Given the description of an element on the screen output the (x, y) to click on. 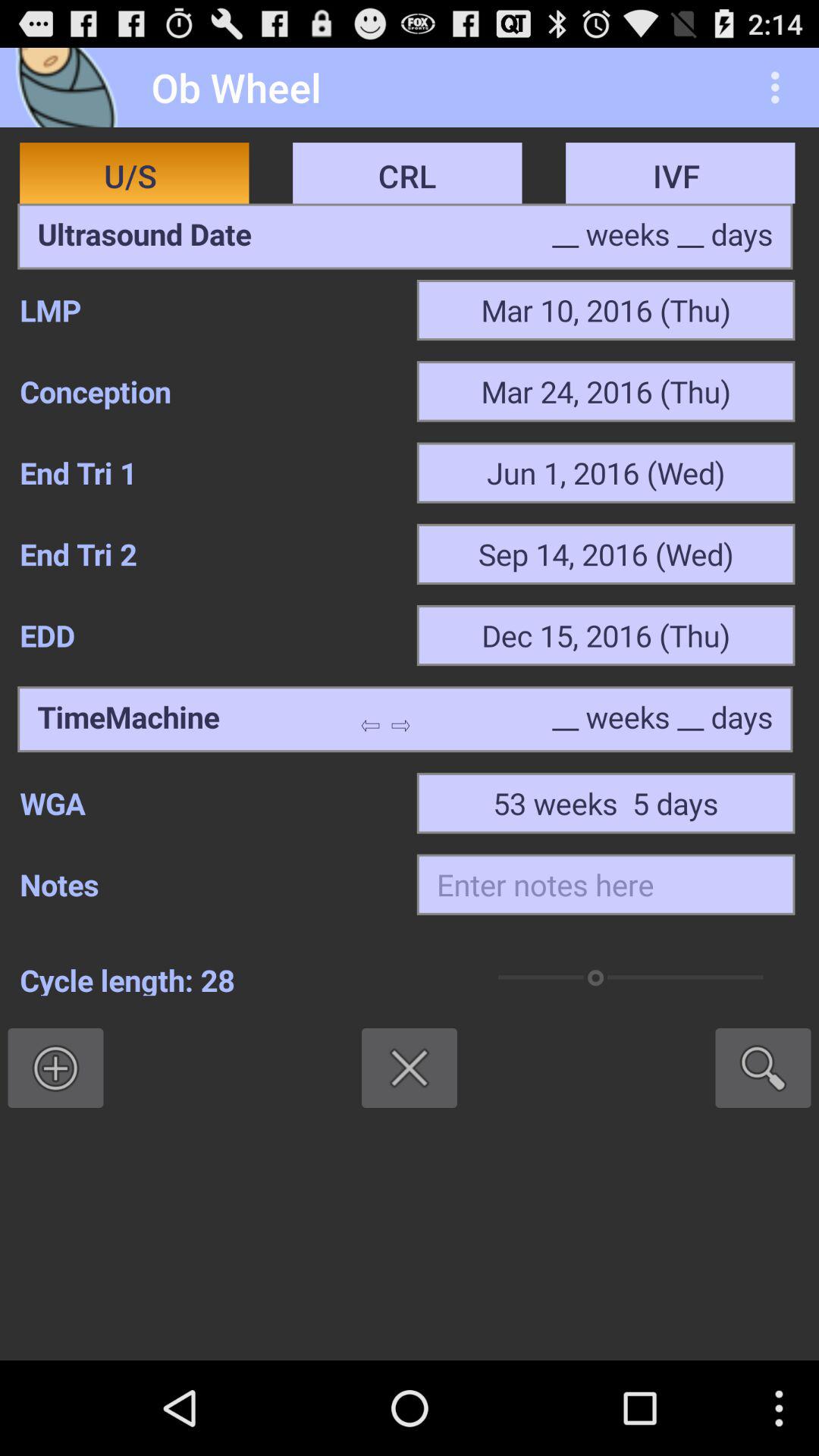
click icon above notes icon (208, 802)
